Given the description of an element on the screen output the (x, y) to click on. 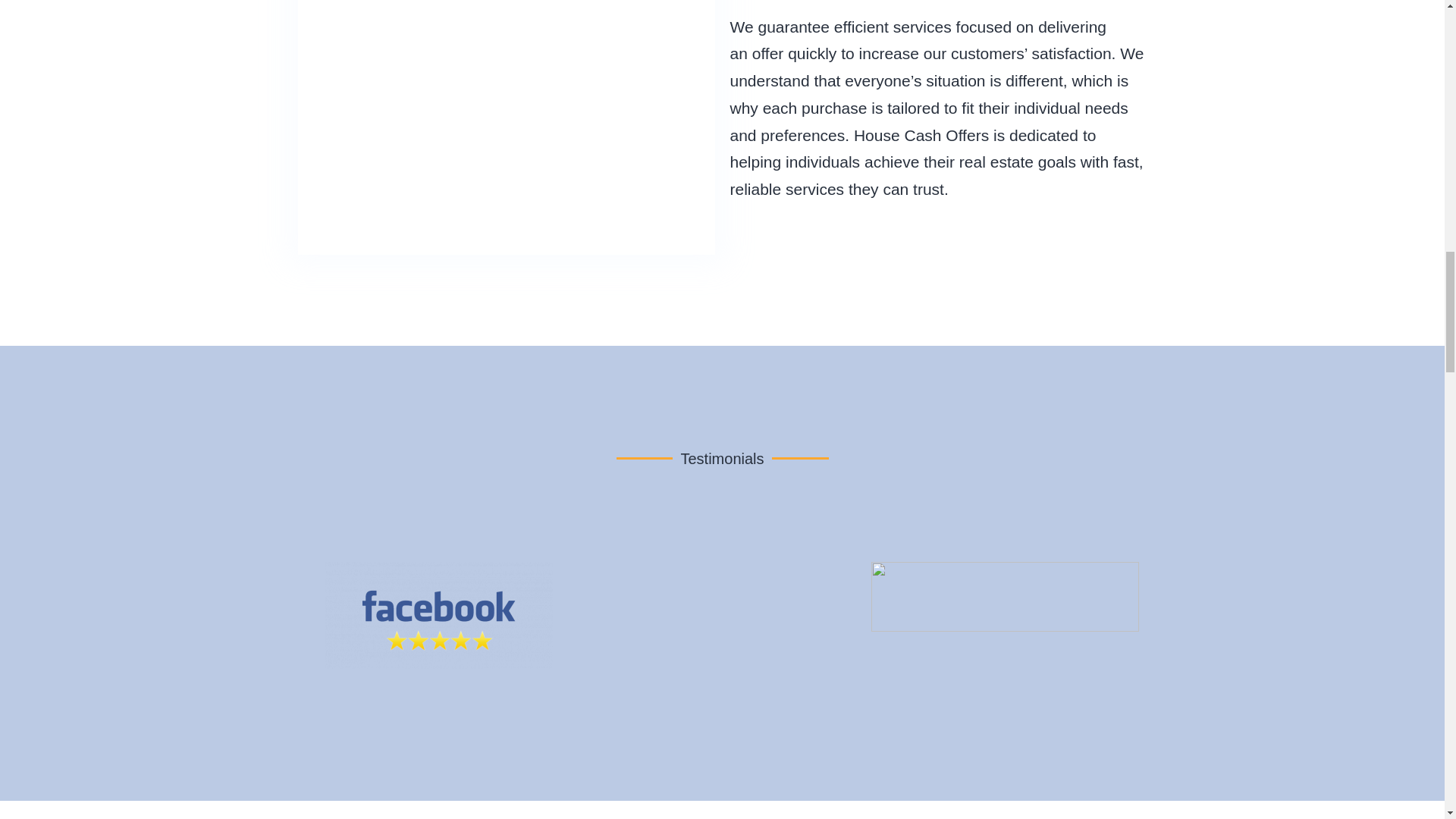
offer quickly (794, 53)
House Cash Offers (920, 135)
